Given the description of an element on the screen output the (x, y) to click on. 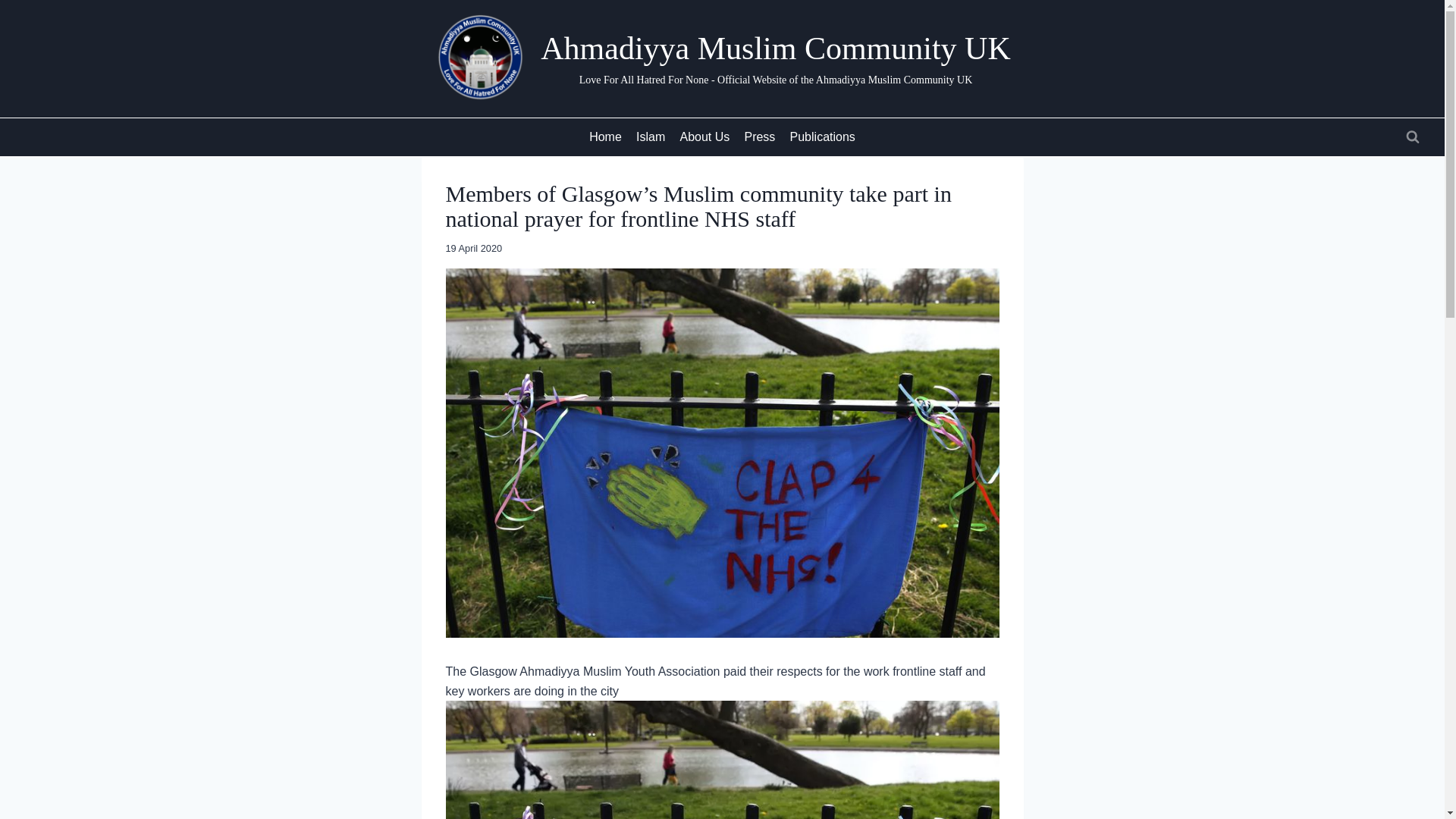
Home (605, 137)
Press (759, 137)
Islam (649, 137)
About Us (704, 137)
Publications (822, 137)
